Given the description of an element on the screen output the (x, y) to click on. 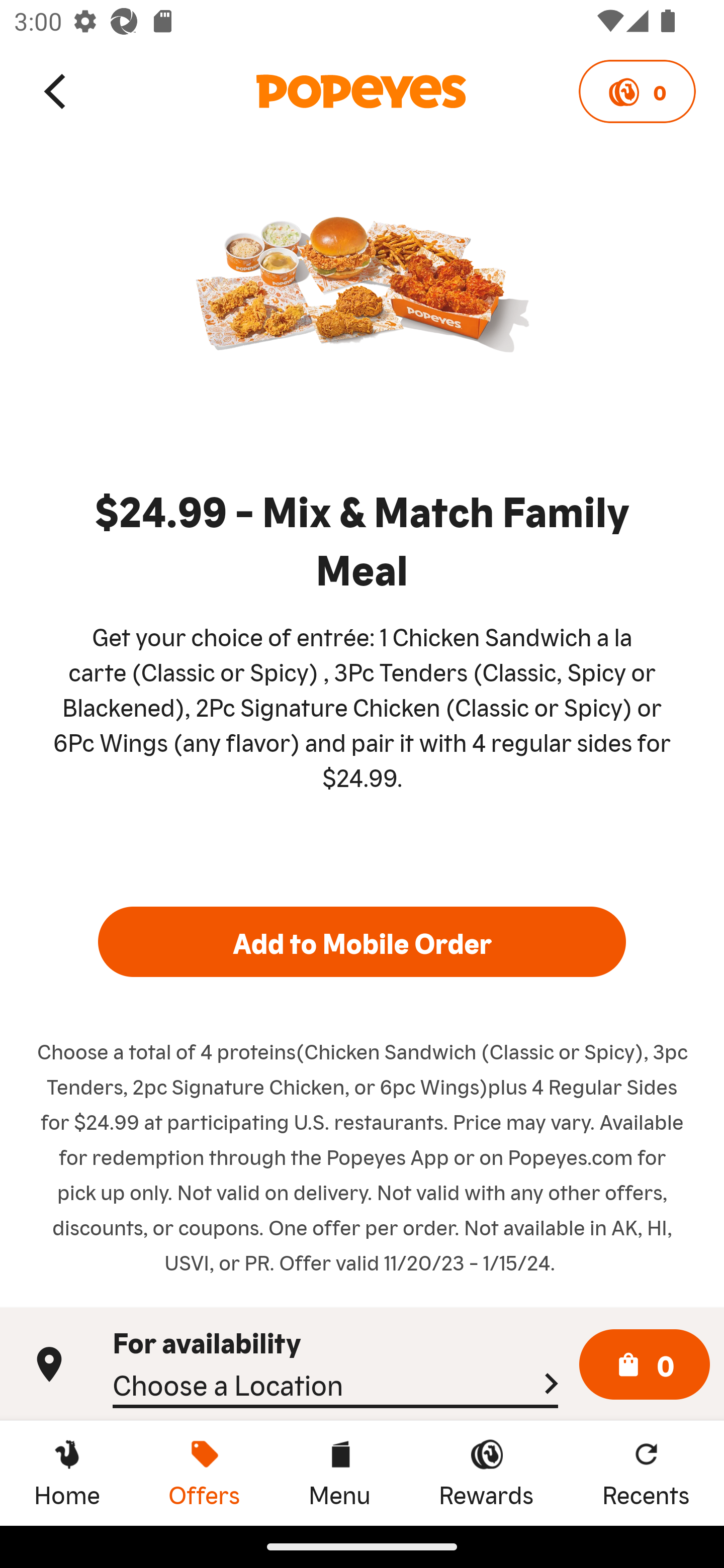
Back (56, 90)
0 Points 0 (636, 91)
Add to Mobile Order (361, 941)
0 Cart total  0 (644, 1364)
Home Home Home (66, 1472)
Offers, current page Offers Offers, current page (203, 1472)
Menu Menu Menu (339, 1472)
Rewards Rewards Rewards (486, 1472)
Recents Recents Recents (646, 1472)
